Given the description of an element on the screen output the (x, y) to click on. 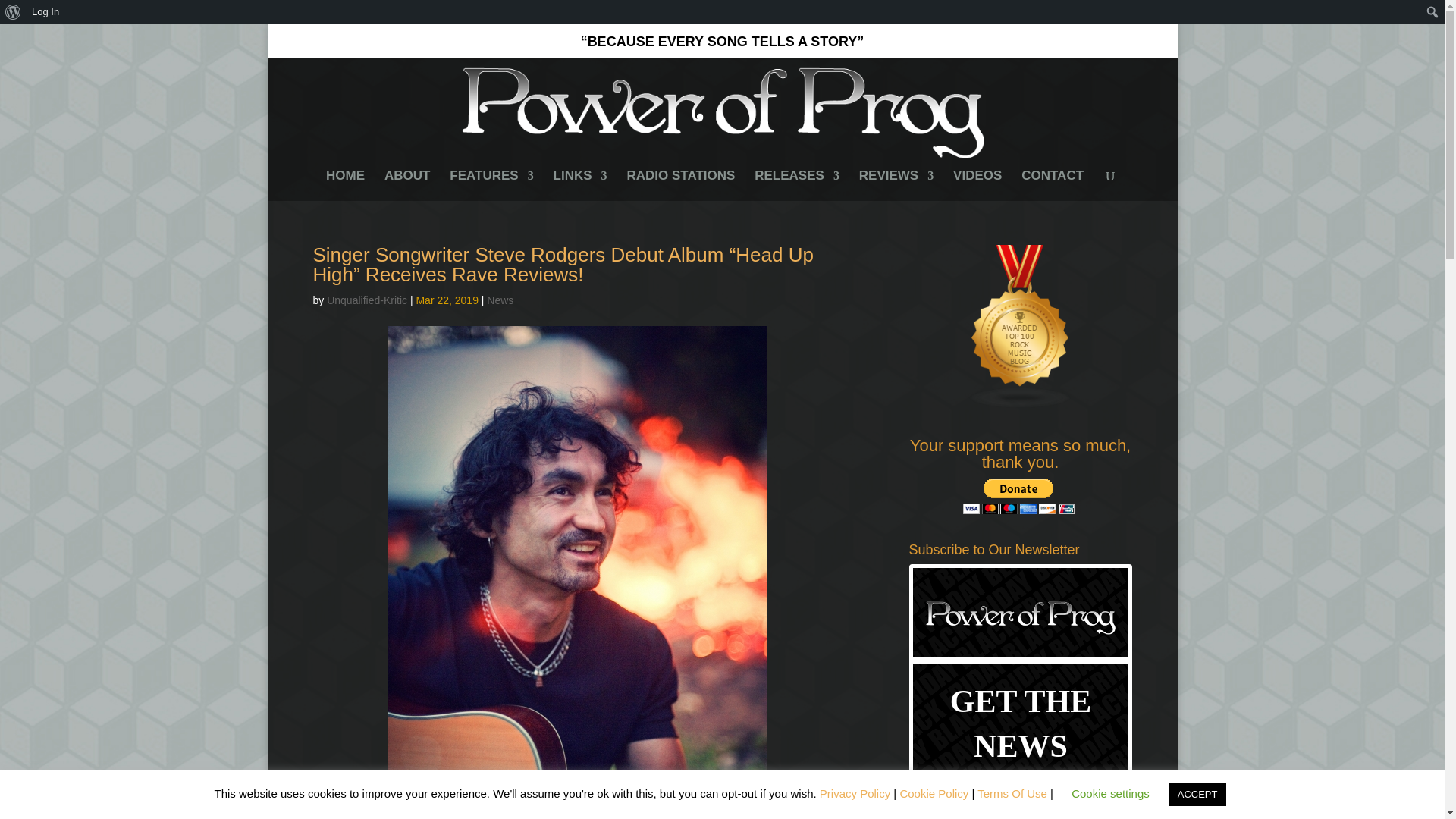
HOME (345, 185)
Search (16, 13)
REVIEWS (896, 185)
VIDEOS (977, 185)
Rock Music blogs (1020, 404)
RADIO STATIONS (680, 185)
ABOUT (406, 185)
RELEASES (797, 185)
Log In (45, 12)
FEATURES (490, 185)
Posts by Unqualified-Kritic (366, 300)
LINKS (580, 185)
CONTACT (1052, 185)
